Given the description of an element on the screen output the (x, y) to click on. 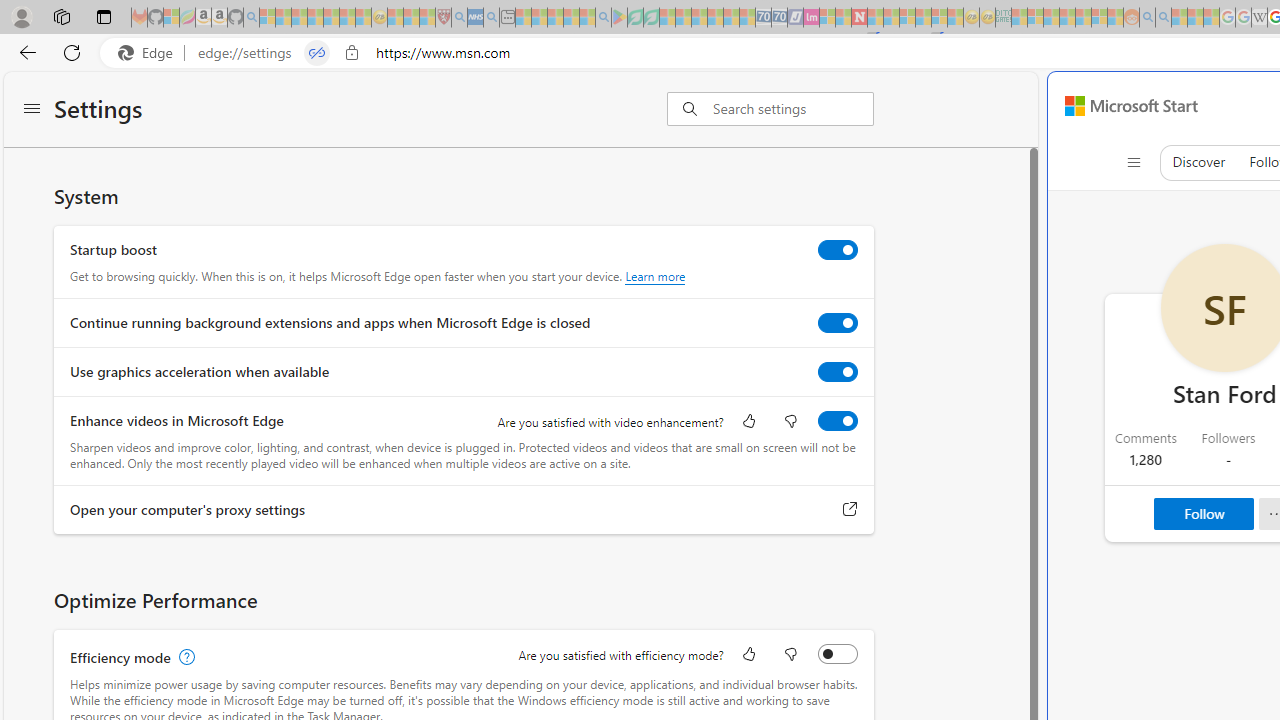
Use graphics acceleration when available (837, 372)
Enhance videos in Microsoft Edge (837, 421)
Search settings (791, 109)
Open your computer's proxy settings (849, 509)
Tabs in split screen (317, 53)
